Given the description of an element on the screen output the (x, y) to click on. 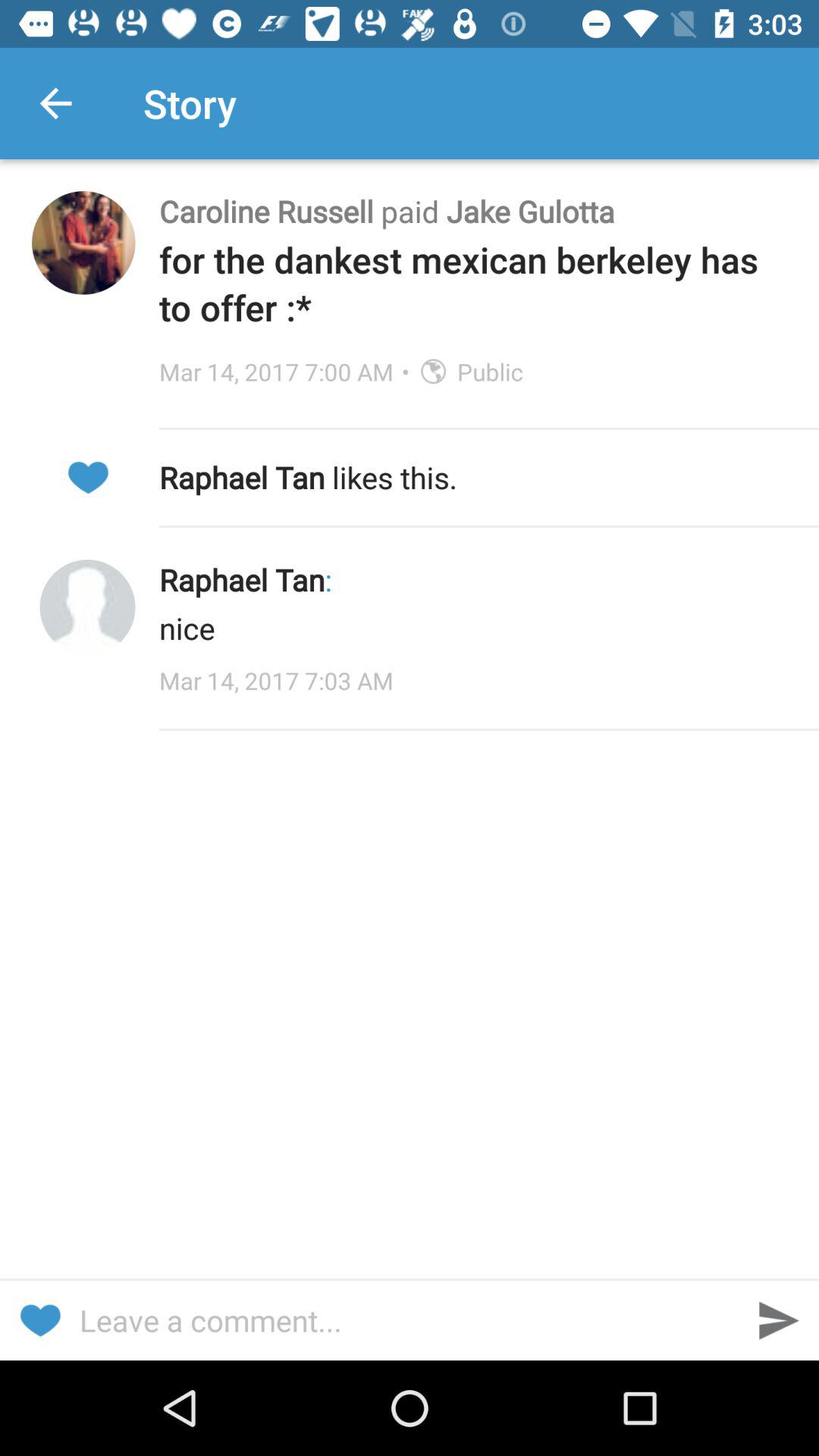
press icon next to the story (55, 103)
